Given the description of an element on the screen output the (x, y) to click on. 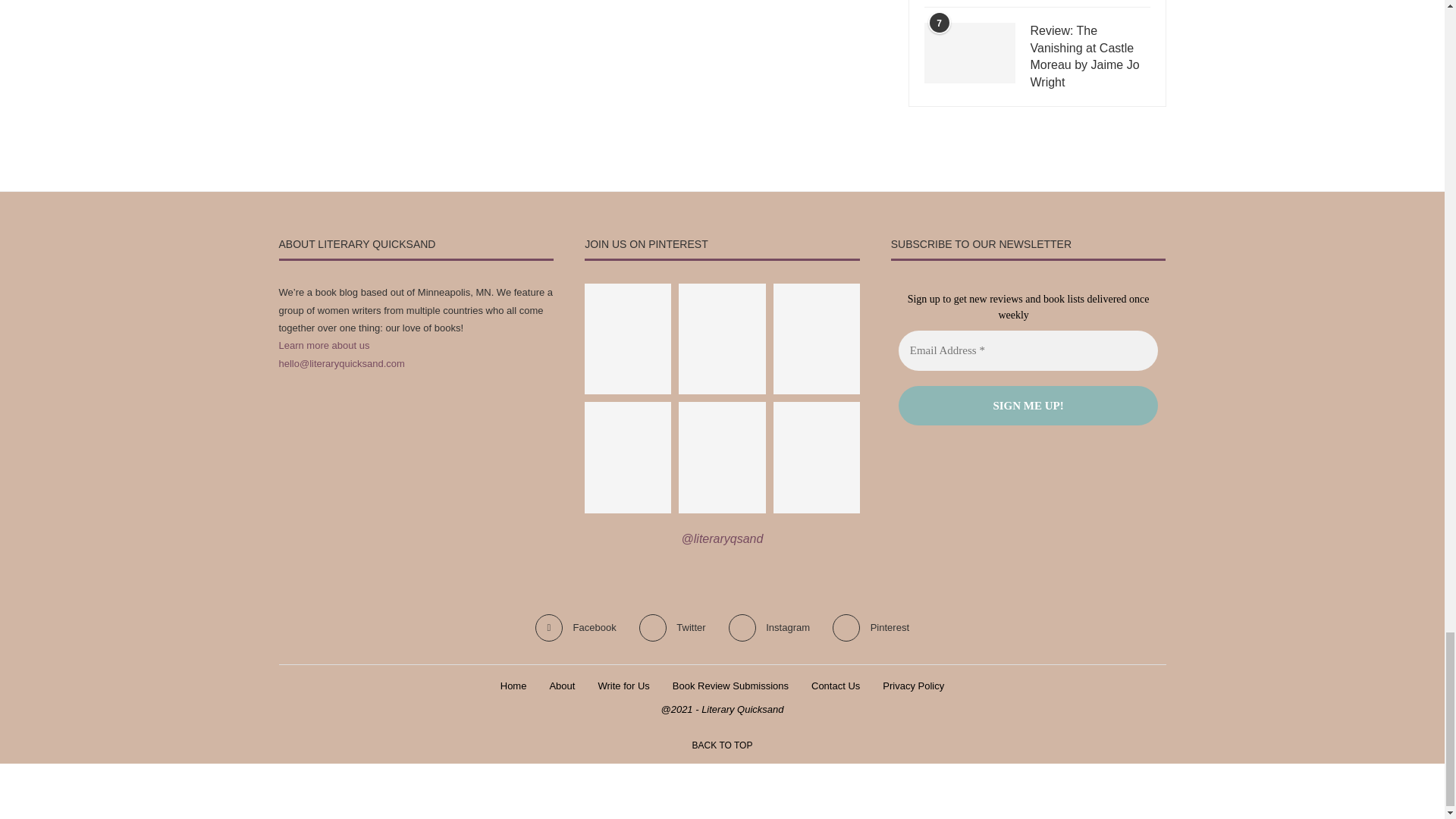
Sign me up! (1028, 405)
